Given the description of an element on the screen output the (x, y) to click on. 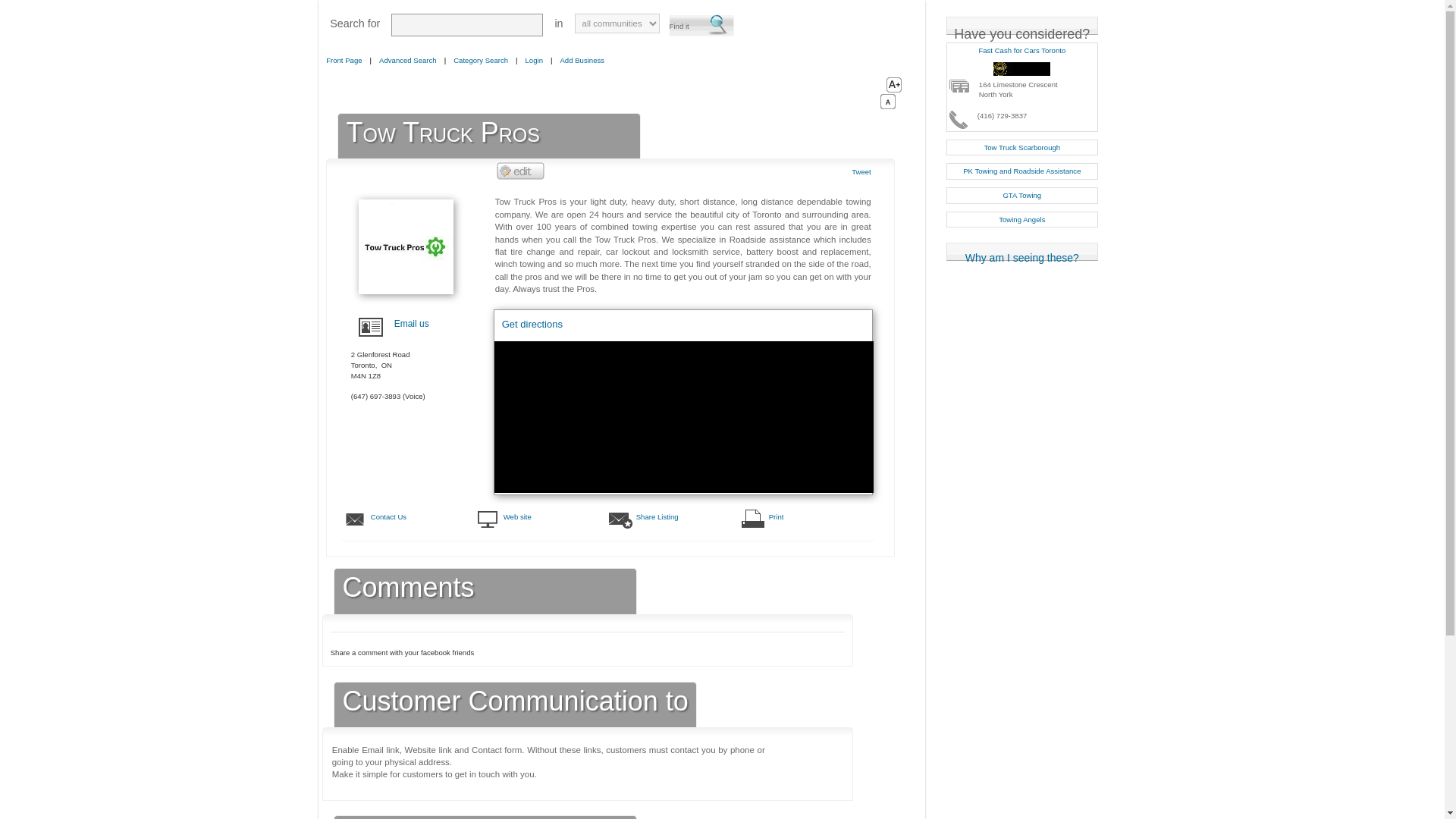
Towing Angels (1021, 219)
Get directions (532, 331)
Find it (701, 26)
Tweet (860, 171)
Print (818, 516)
Print details of this listing (818, 516)
Why am I seeing these? (1021, 251)
Find it (701, 26)
Front Page (343, 60)
GTA Towing (1021, 195)
